Given the description of an element on the screen output the (x, y) to click on. 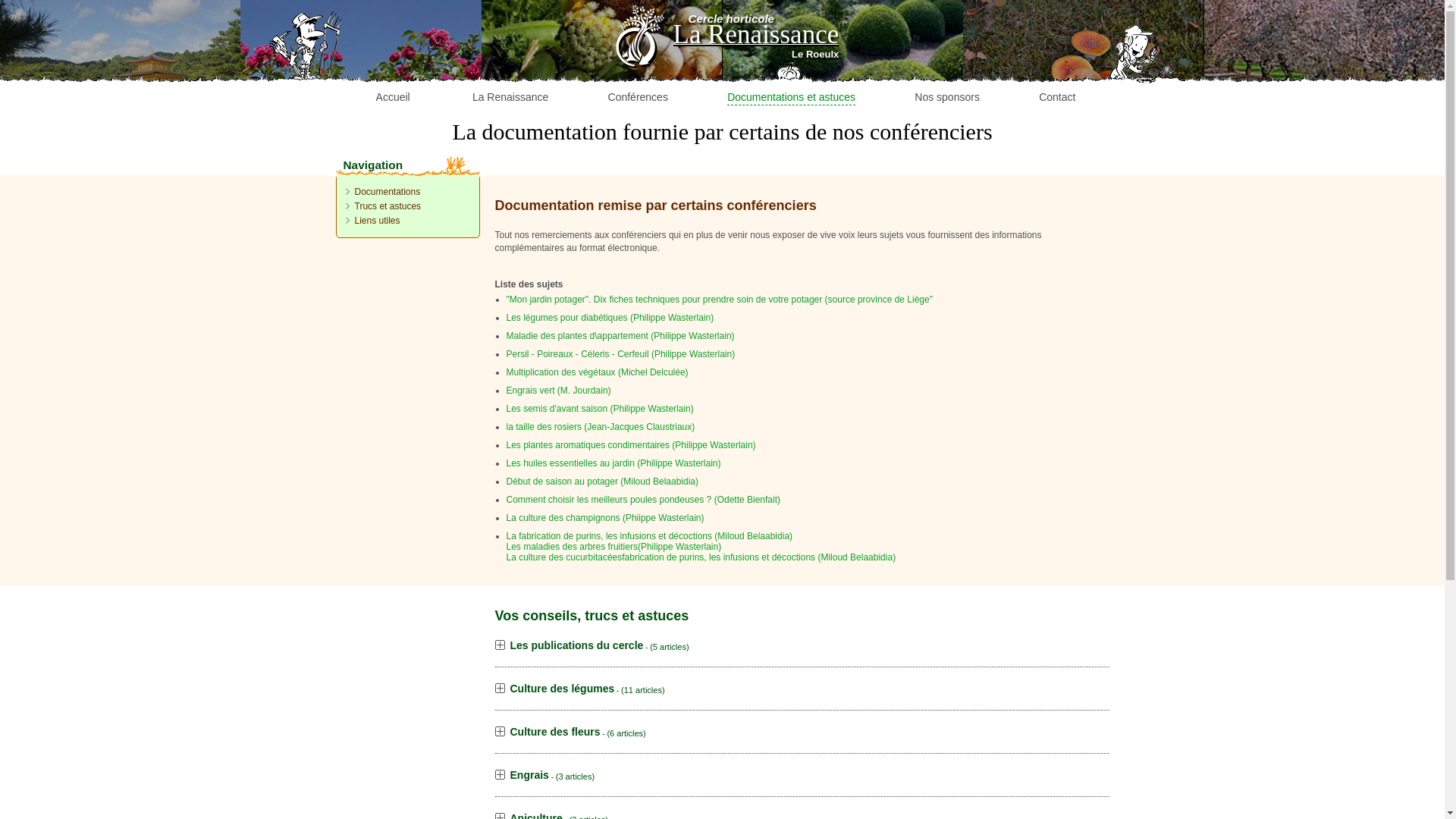
Les huiles essentielles au jardin (Philippe Wasterlain) Element type: text (618, 463)
Documentations Element type: text (382, 191)
Contact Element type: text (1057, 55)
Nos sponsors Element type: text (946, 55)
Les semis d'avant saison (Philippe Wasterlain) Element type: text (605, 408)
Les plantes aromatiques condimentaires (Philippe Wasterlain) Element type: text (636, 444)
La culture des champignons (Phiippe Wasterlain) Element type: text (610, 517)
Maladie des plantes d\appartement (Philippe Wasterlain) Element type: text (625, 335)
la taille des rosiers (Jean-Jacques Claustriaux) Element type: text (606, 426)
Engrais vert (M. Jourdain) Element type: text (563, 390)
La Renaissance Element type: text (510, 55)
Documentations et astuces Element type: text (790, 55)
Trucs et astuces Element type: text (382, 205)
Accueil Element type: text (392, 55)
Les maladies des arbres fruitiers(Philippe Wasterlain) Element type: text (613, 546)
Liens utiles Element type: text (372, 220)
